Given the description of an element on the screen output the (x, y) to click on. 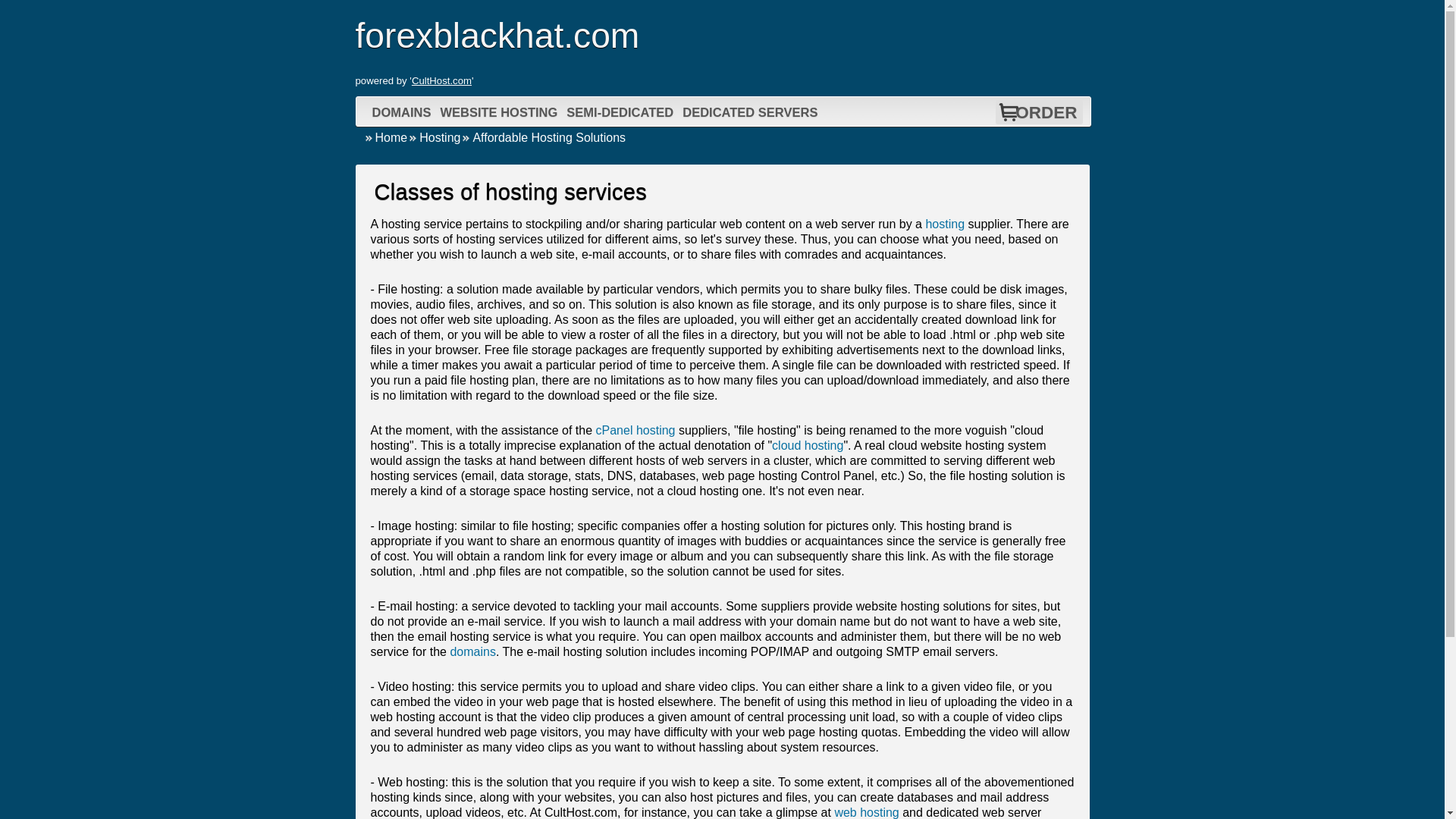
web hosting (866, 812)
cloud hosting (807, 445)
Hosting (433, 137)
hosting (943, 223)
DEDICATED SERVERS (749, 112)
CultHost.com (441, 80)
domains (472, 651)
ORDER (1045, 112)
cPanel hosting (635, 430)
Home (384, 137)
SEMI-DEDICATED (619, 112)
DOMAINS (401, 112)
WEBSITE HOSTING (497, 112)
